Given the description of an element on the screen output the (x, y) to click on. 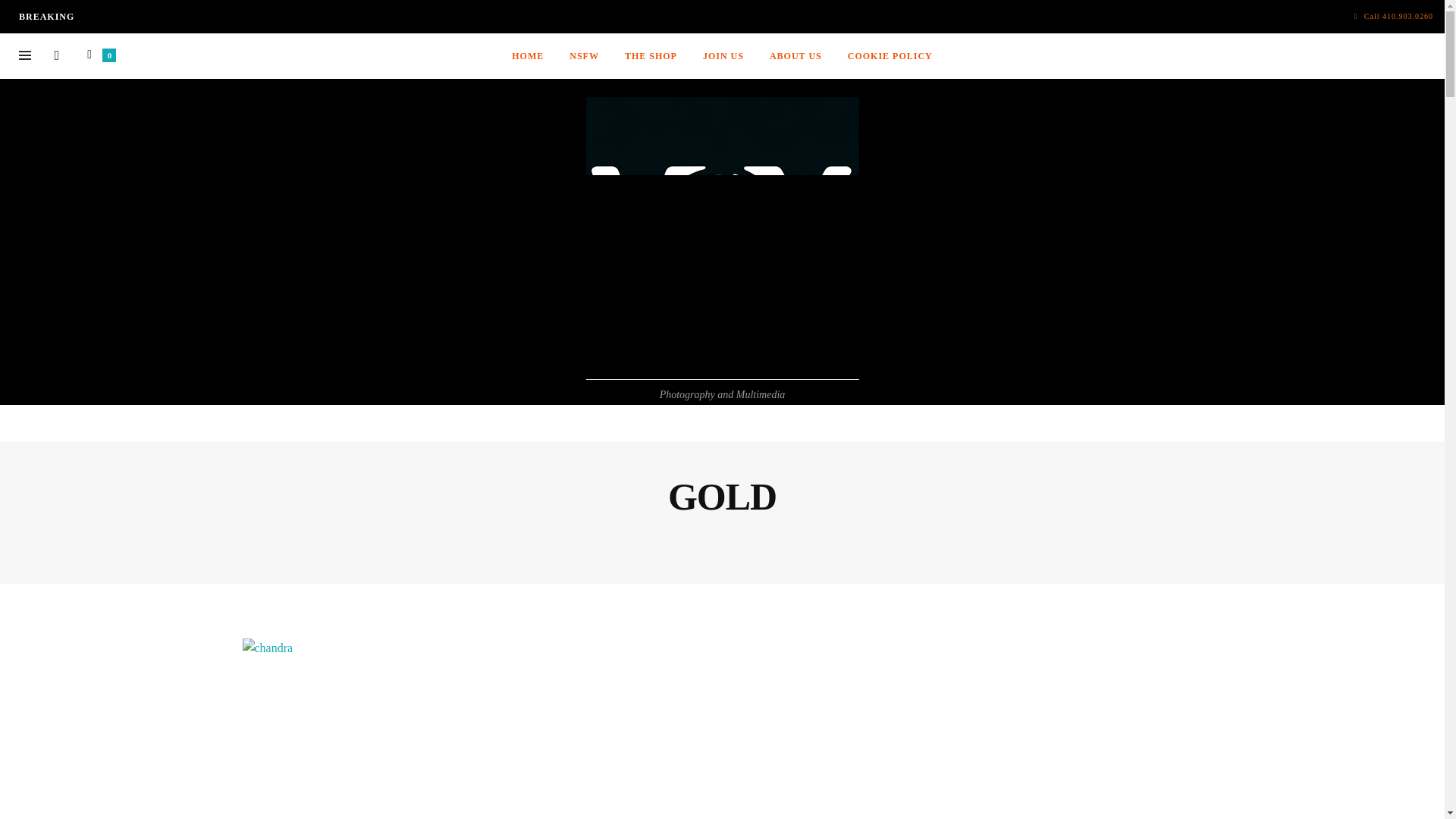
0 (98, 53)
View your shopping cart (98, 53)
THE SHOP (650, 55)
HOME (527, 55)
NSFW (583, 55)
